Given the description of an element on the screen output the (x, y) to click on. 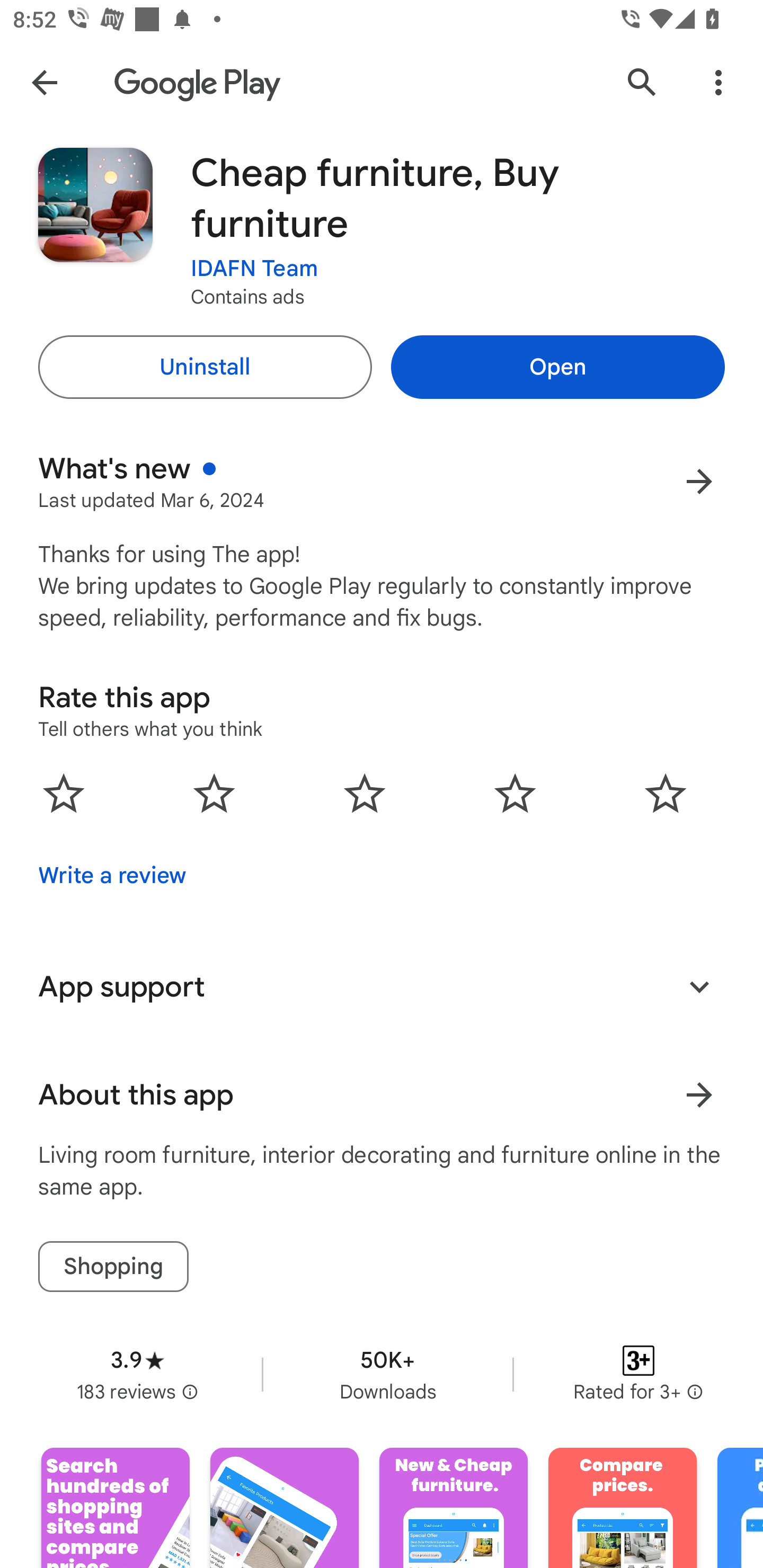
Navigate up (44, 81)
Search Google Play (642, 81)
More Options (718, 81)
IDAFN Team (254, 268)
Uninstall (205, 366)
Open (557, 366)
More results for What's new (699, 481)
0.0 (364, 792)
Write a review (112, 875)
App support Expand (381, 986)
Expand (699, 986)
About this app Learn more About this app (381, 1094)
Learn more About this app (699, 1094)
Shopping tag (113, 1265)
Average rating 3.9 stars in 183 reviews (137, 1374)
Content rating Rated for 3+ (638, 1374)
Screenshot "1" of "7" (115, 1507)
Screenshot "2" of "7" (284, 1507)
Screenshot "3" of "7" (453, 1507)
Screenshot "4" of "7" (622, 1507)
